Given the description of an element on the screen output the (x, y) to click on. 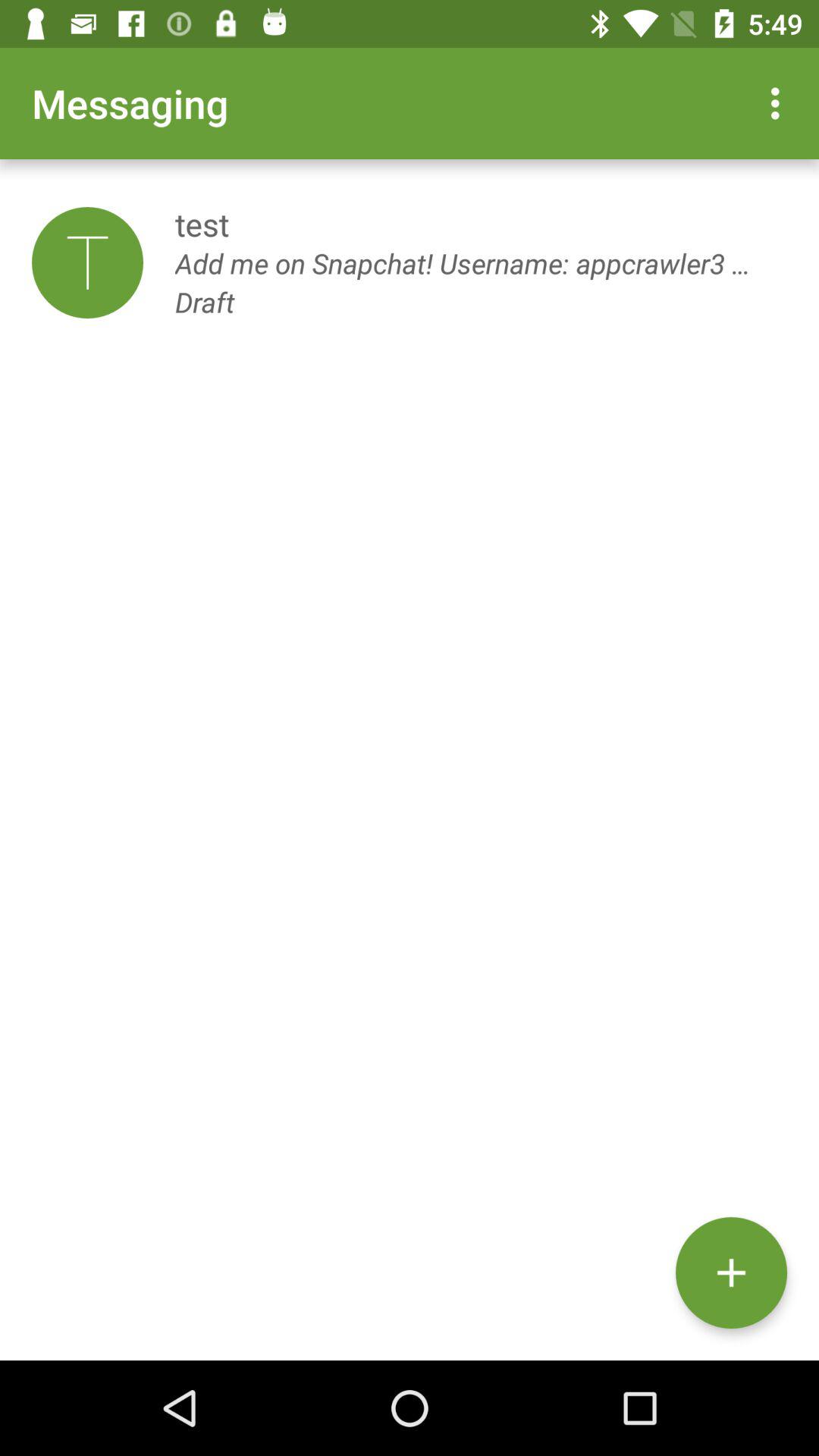
press the app below messaging item (87, 262)
